Given the description of an element on the screen output the (x, y) to click on. 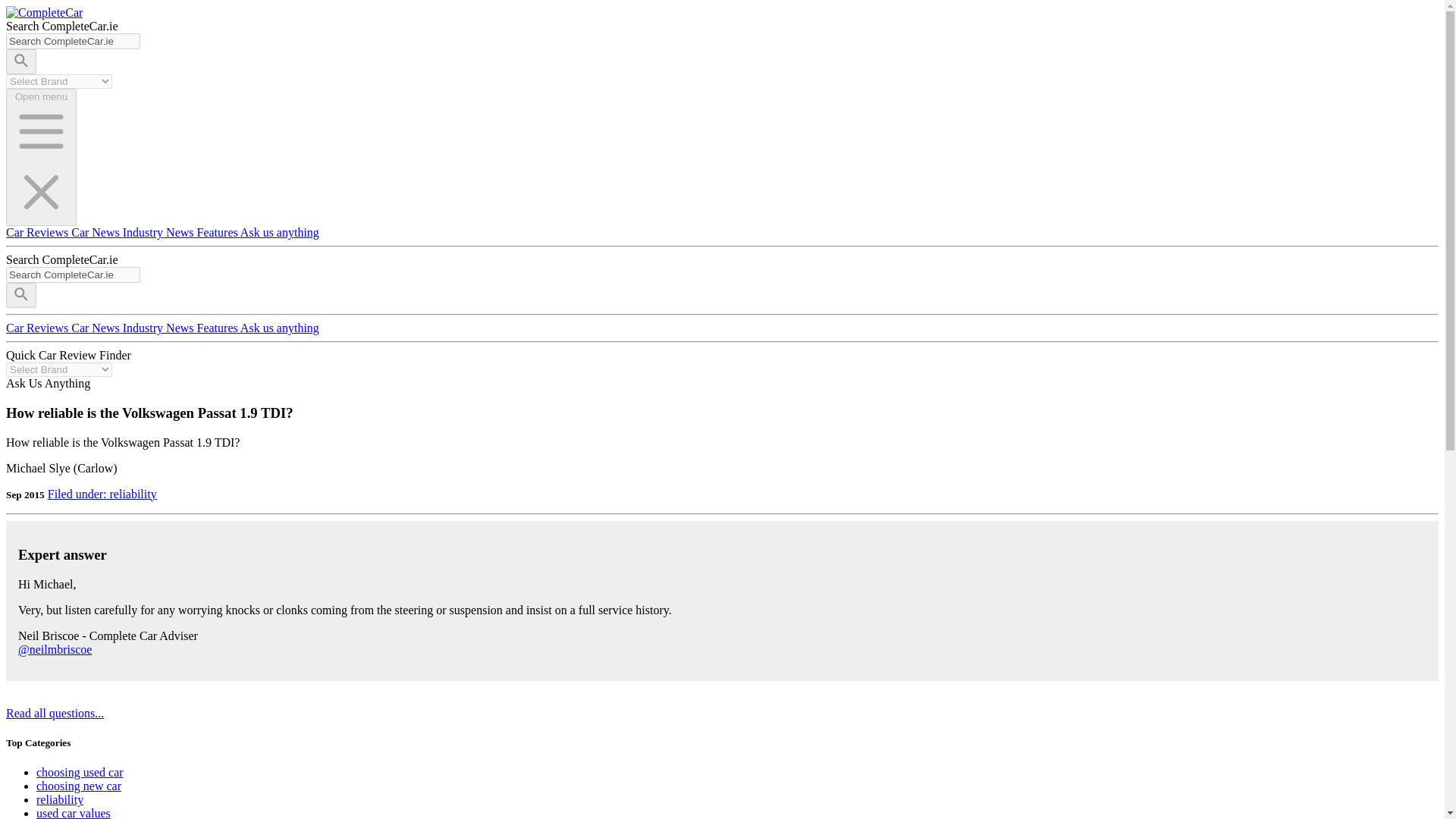
Car News (96, 232)
Features (218, 327)
Industry News (159, 232)
reliability (59, 799)
Ask us anything (279, 327)
Ask us anything (279, 232)
Car Reviews (38, 327)
Search CompleteCar.ie (72, 41)
Car Reviews (38, 232)
choosing used car (79, 771)
